Given the description of an element on the screen output the (x, y) to click on. 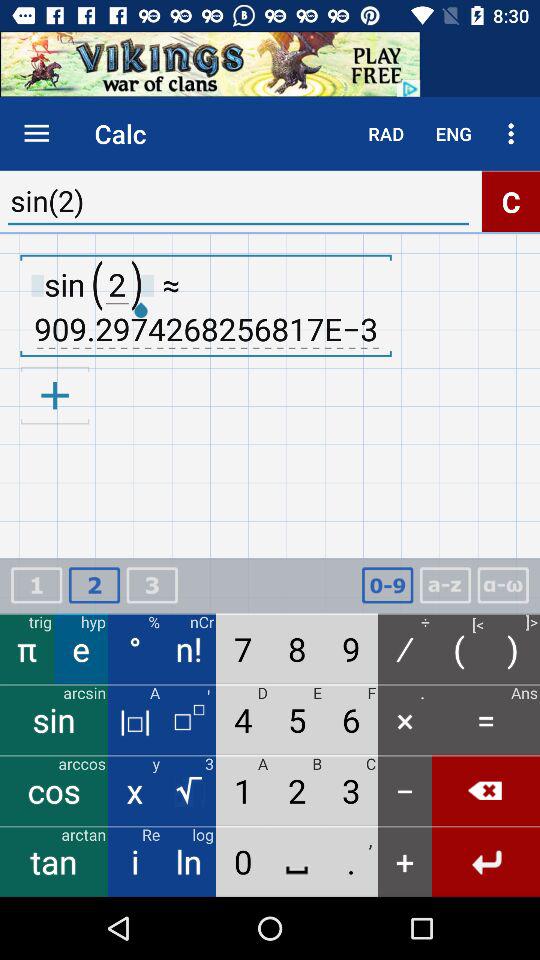
click 3 (152, 585)
